Given the description of an element on the screen output the (x, y) to click on. 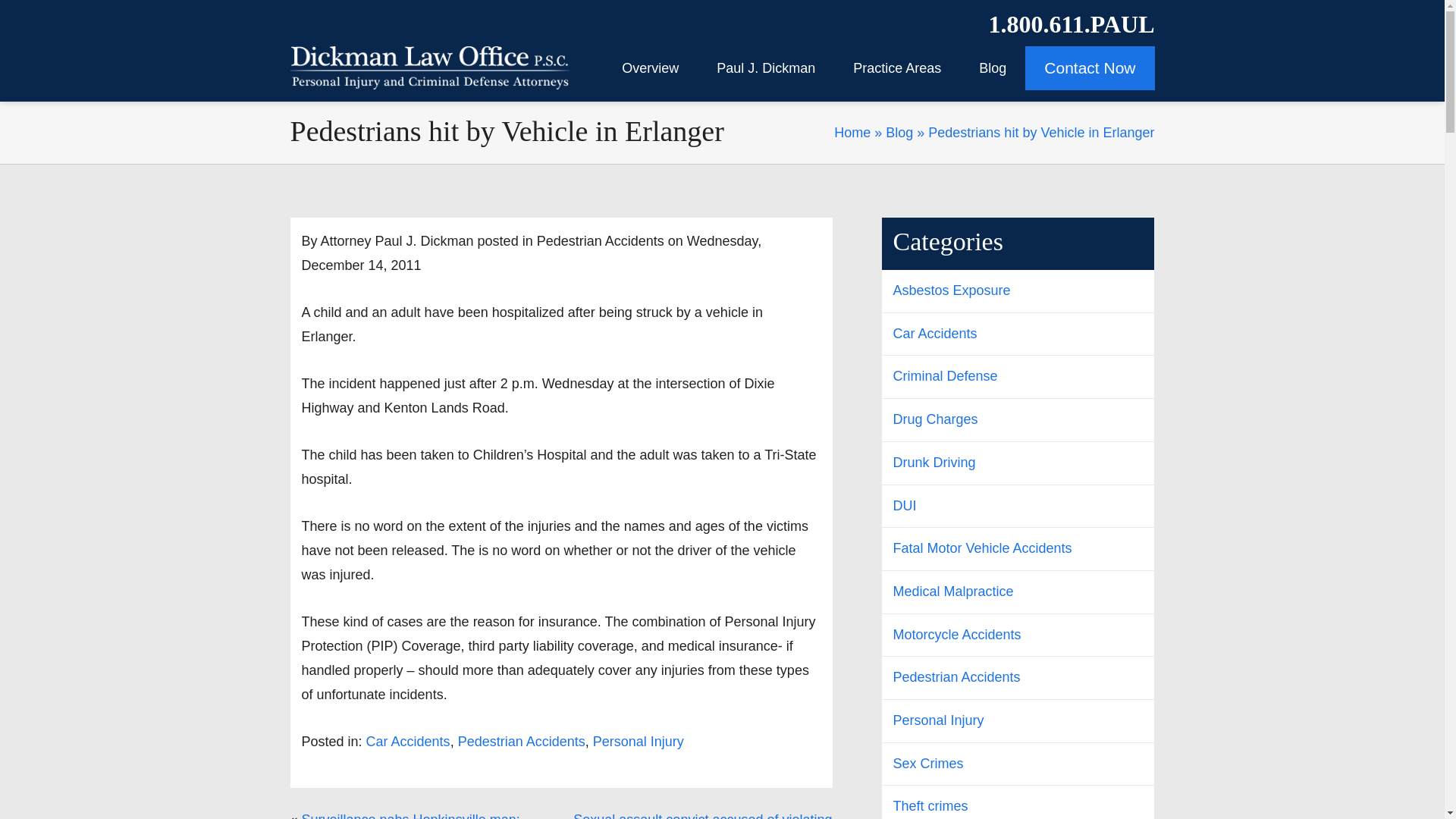
1.800.611.PAUL (1071, 23)
Paul J. Dickman (765, 67)
Overview (649, 67)
Practice Areas (896, 67)
